Given the description of an element on the screen output the (x, y) to click on. 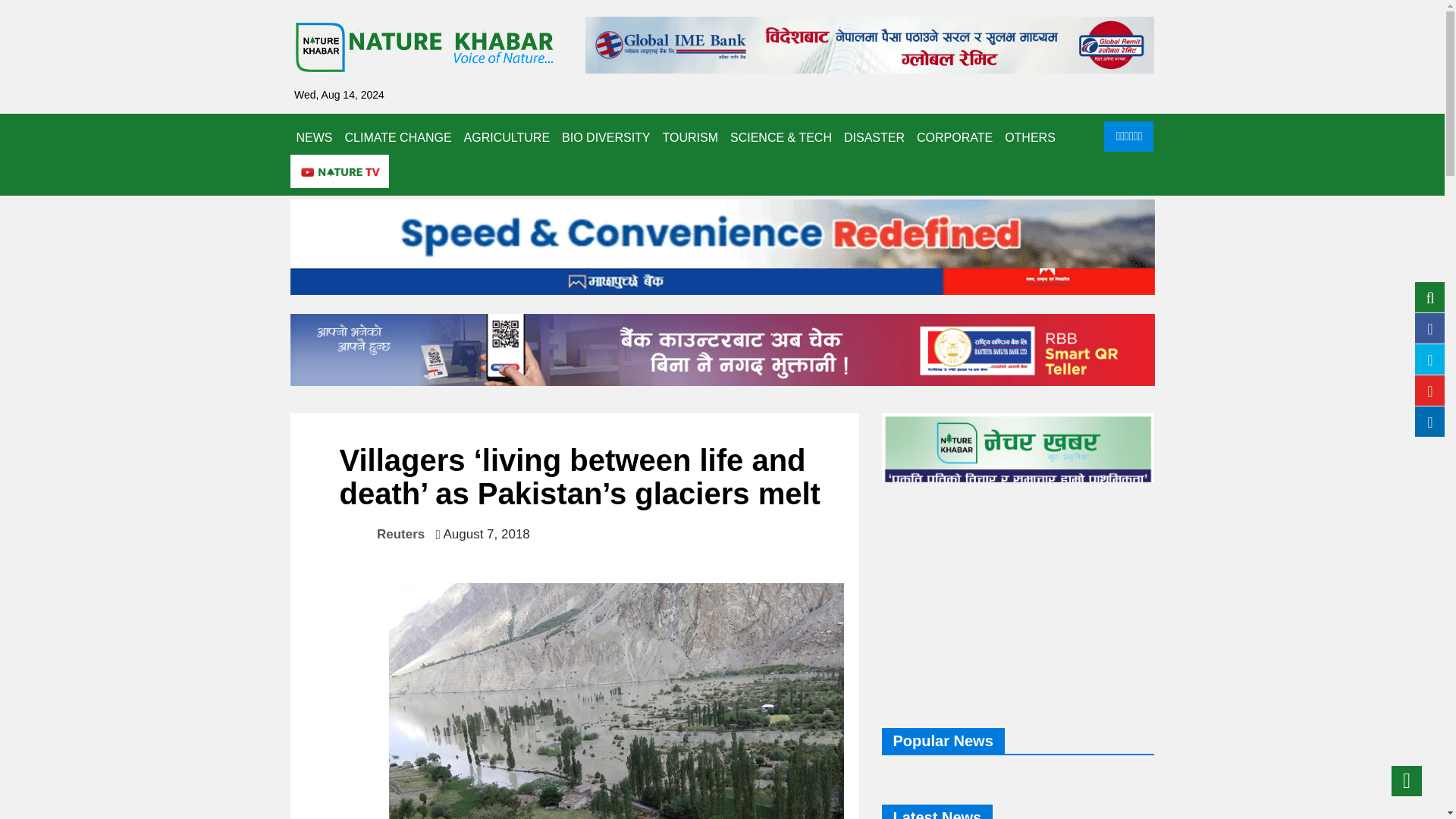
CORPORATE (954, 137)
CLIMATE CHANGE (397, 137)
TOURISM (689, 137)
DISASTER (874, 137)
AGRICULTURE (507, 137)
OTHERS (1029, 137)
NEWS (313, 137)
BIO DIVERSITY (606, 137)
